Given the description of an element on the screen output the (x, y) to click on. 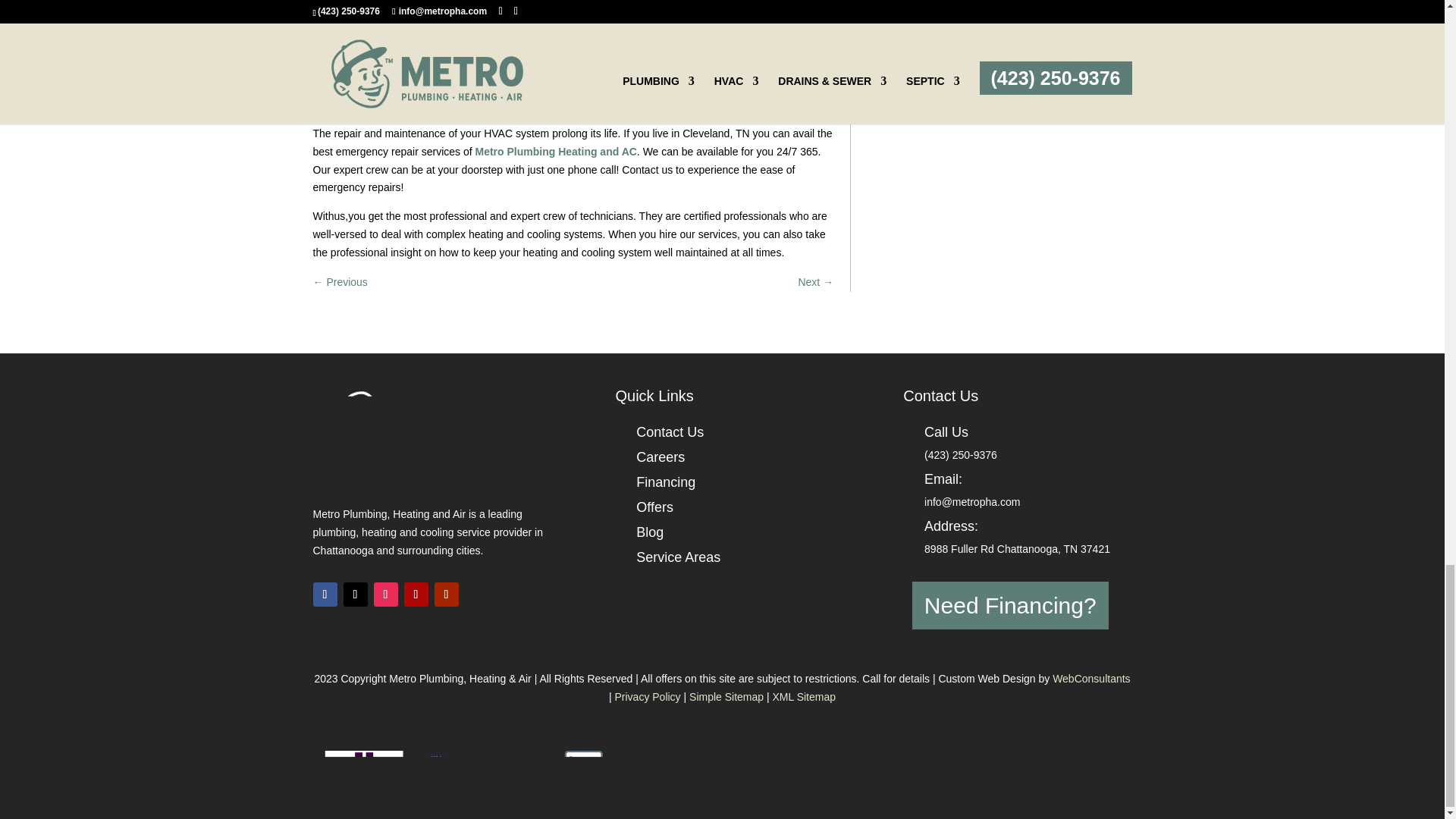
Follow on Facebook (324, 594)
Follow on Youtube (445, 594)
Metropha White Logo (433, 428)
Follow on X (354, 594)
Follow on Instagram (384, 594)
Follow on Yelp (415, 594)
